Given the description of an element on the screen output the (x, y) to click on. 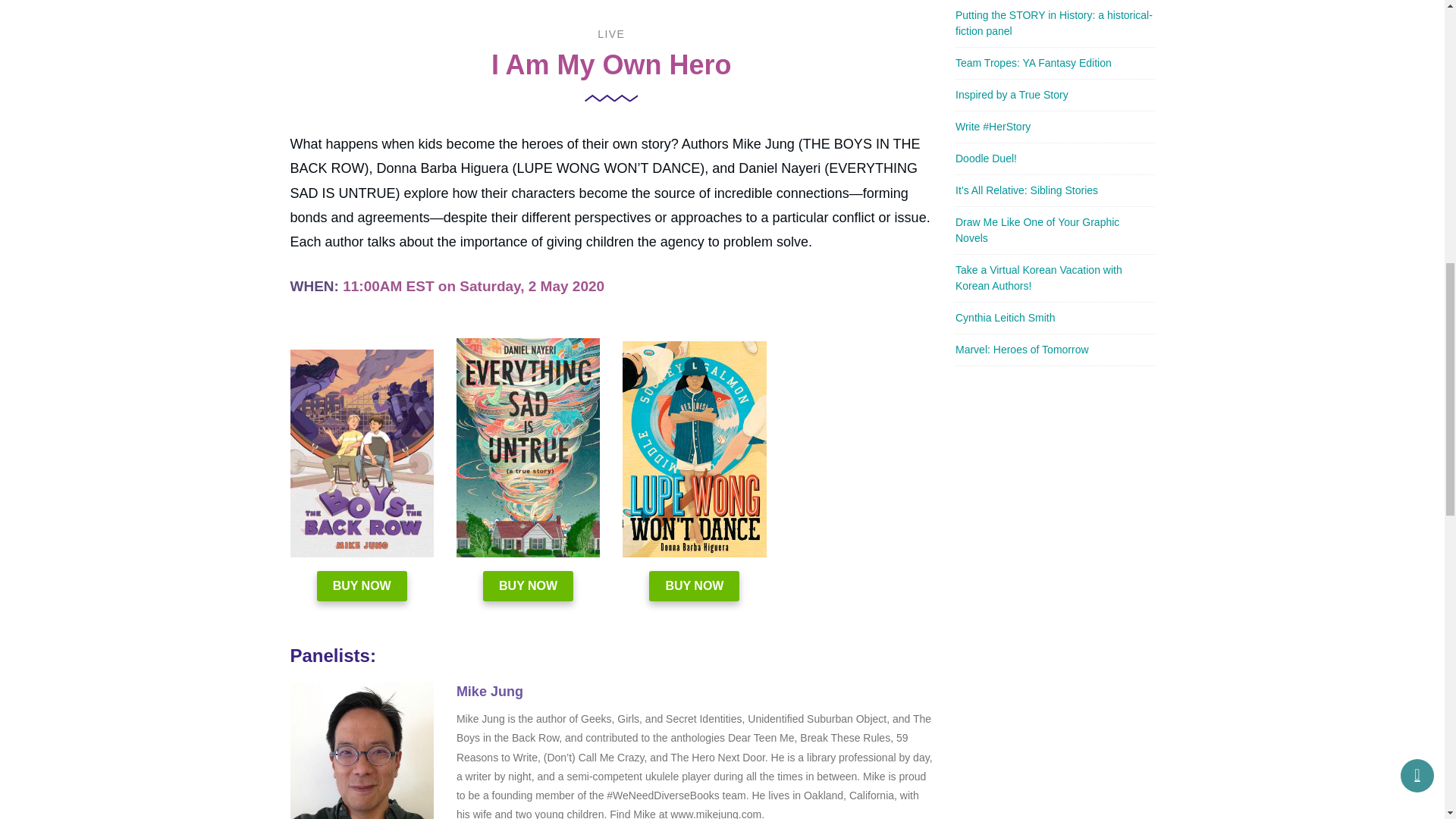
BUY NOW (528, 585)
Team Tropes: YA Fantasy Edition (1033, 61)
BUY NOW (362, 585)
Mike Jung (360, 750)
Mike Jung (489, 691)
Inspired by a True Story (1011, 93)
Putting the STORY in History: a historical-fiction panel (1054, 22)
BUY NOW (694, 585)
